Given the description of an element on the screen output the (x, y) to click on. 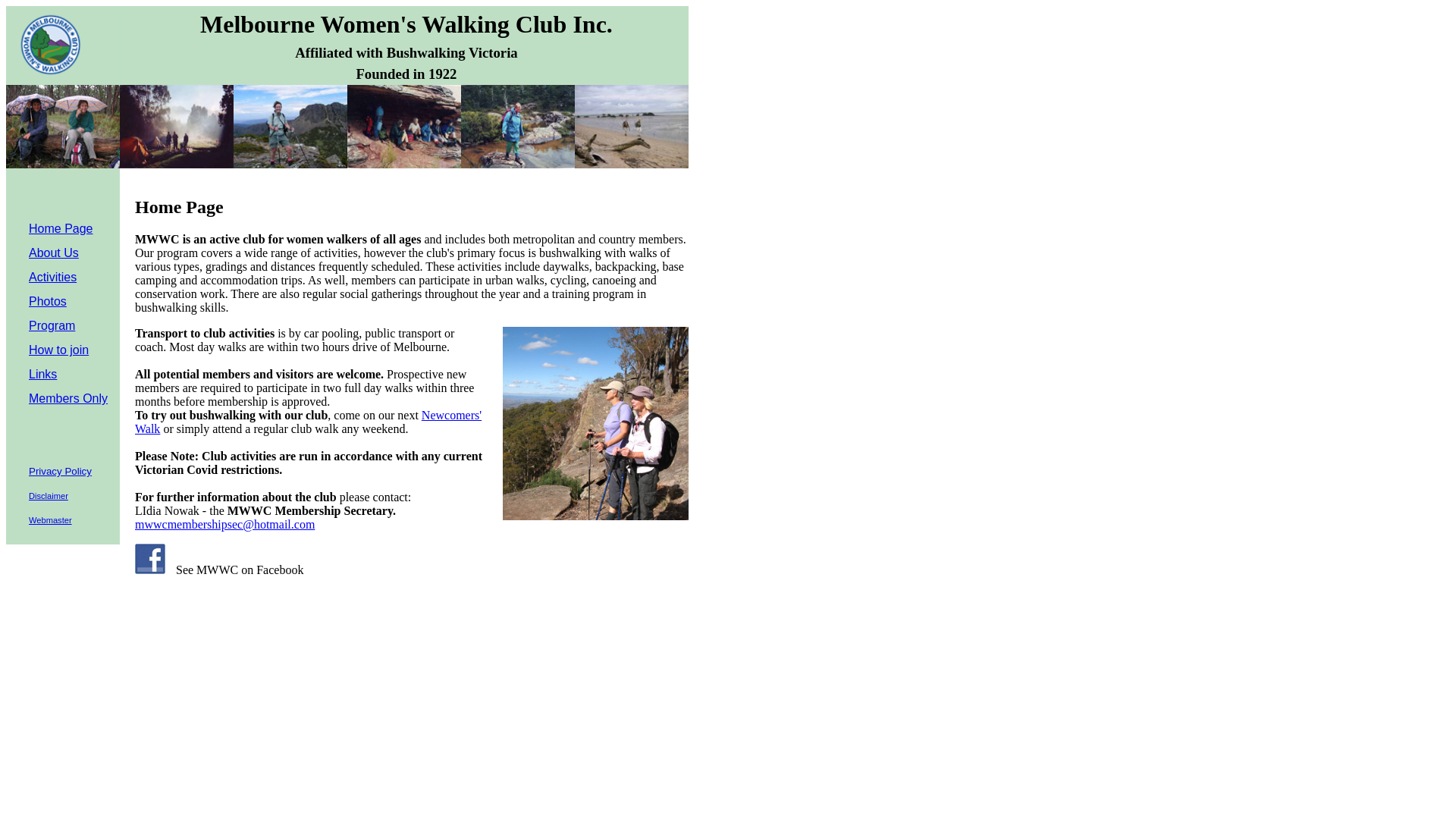
Disclaimer Element type: text (48, 495)
How to join Element type: text (58, 349)
mwwcmembershipsec@hotmail.com Element type: text (224, 523)
Webmaster Element type: text (50, 519)
Members Only Element type: text (67, 398)
Newcomers' Walk Element type: text (307, 421)
Activities Element type: text (52, 276)
About Us Element type: text (53, 252)
Home Page Element type: text (60, 228)
Privacy Policy Element type: text (59, 470)
Photos Element type: text (47, 300)
Program Element type: text (51, 325)
Links Element type: text (42, 373)
